Given the description of an element on the screen output the (x, y) to click on. 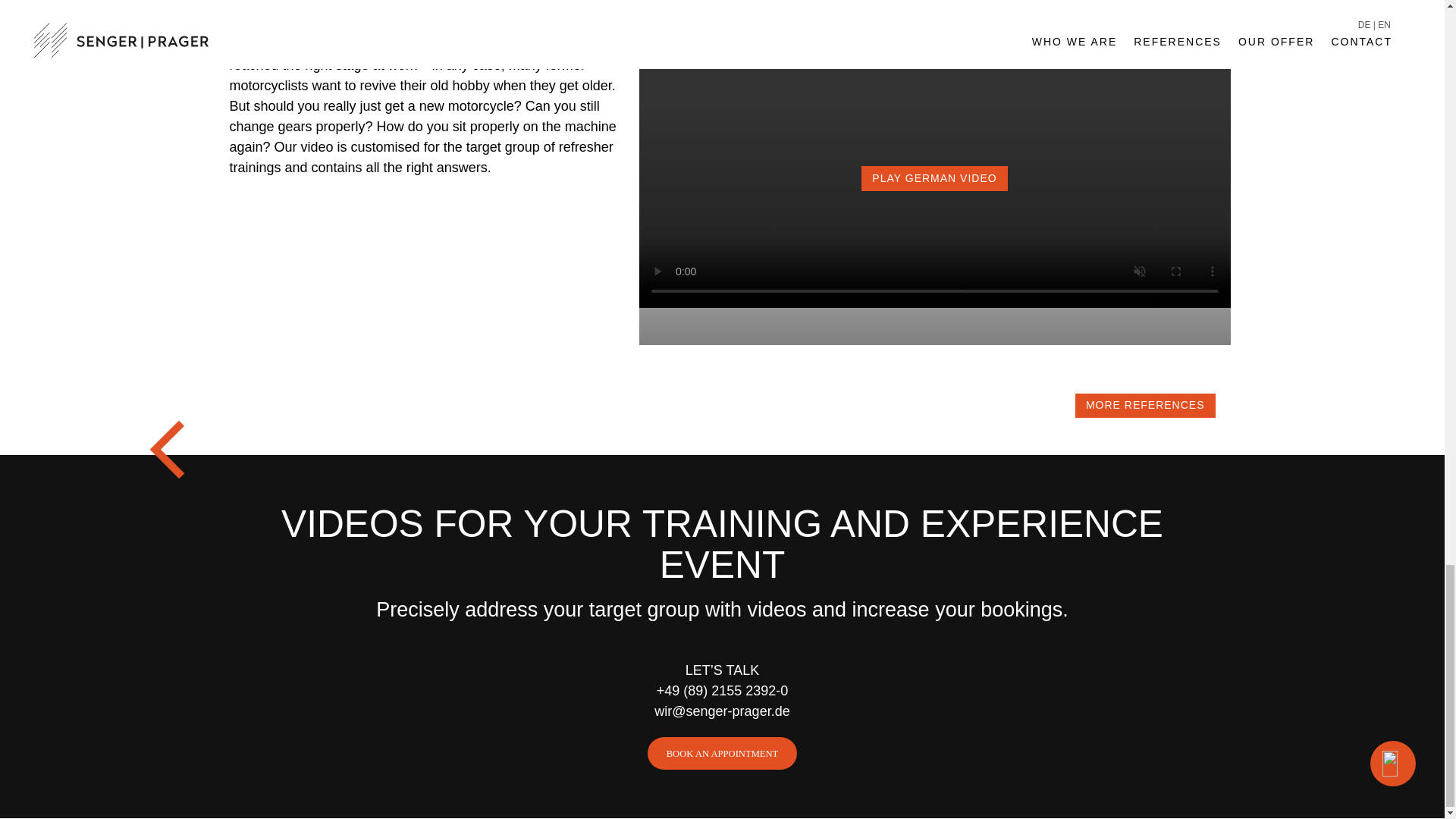
MORE REFERENCES (1145, 405)
PLAY GERMAN VIDEO (934, 303)
